Given the description of an element on the screen output the (x, y) to click on. 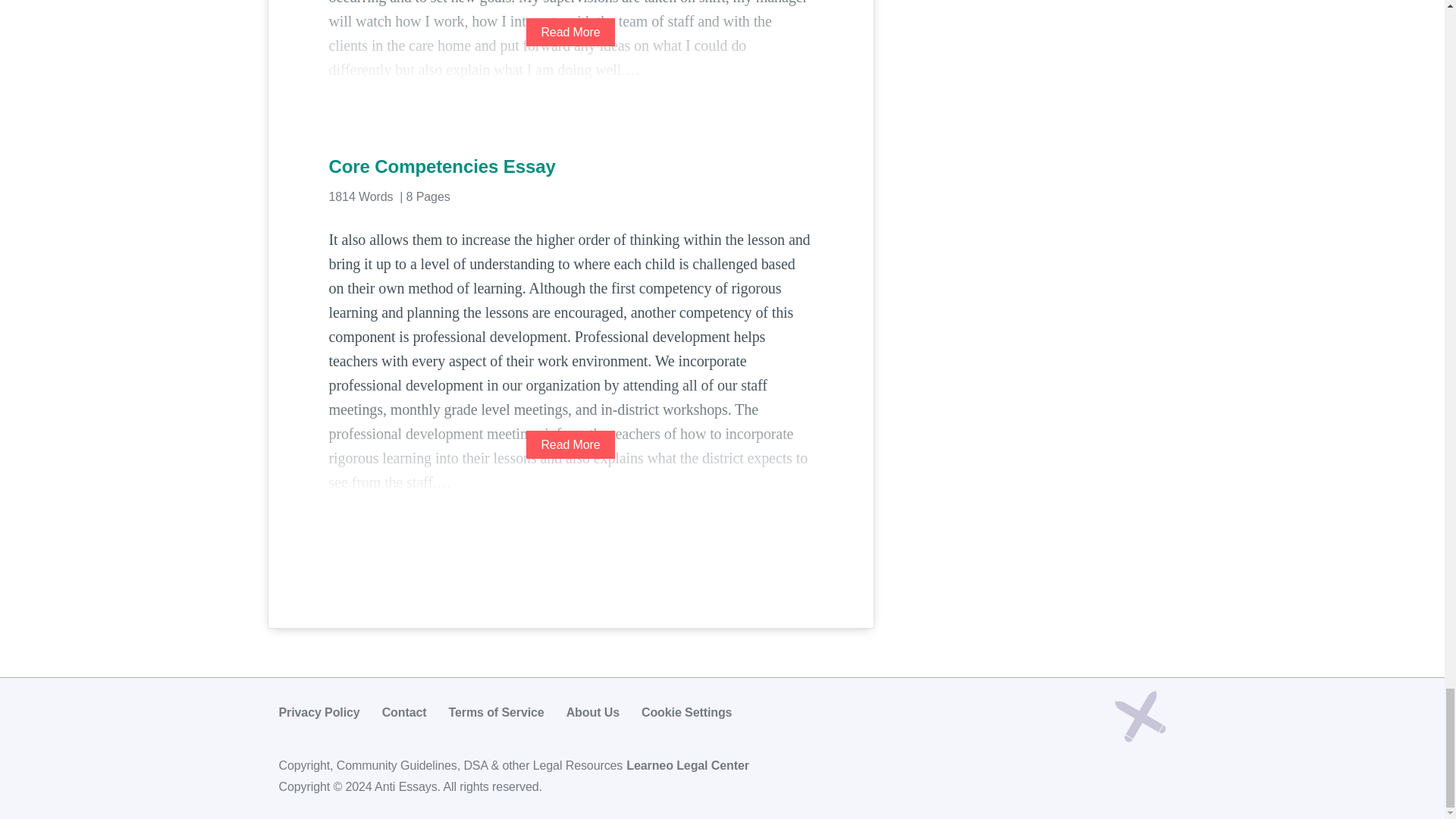
Read More (569, 444)
Terms of Service (495, 712)
Core Competencies Essay (570, 166)
Contact (403, 712)
Privacy Policy (319, 712)
Read More (569, 31)
